Given the description of an element on the screen output the (x, y) to click on. 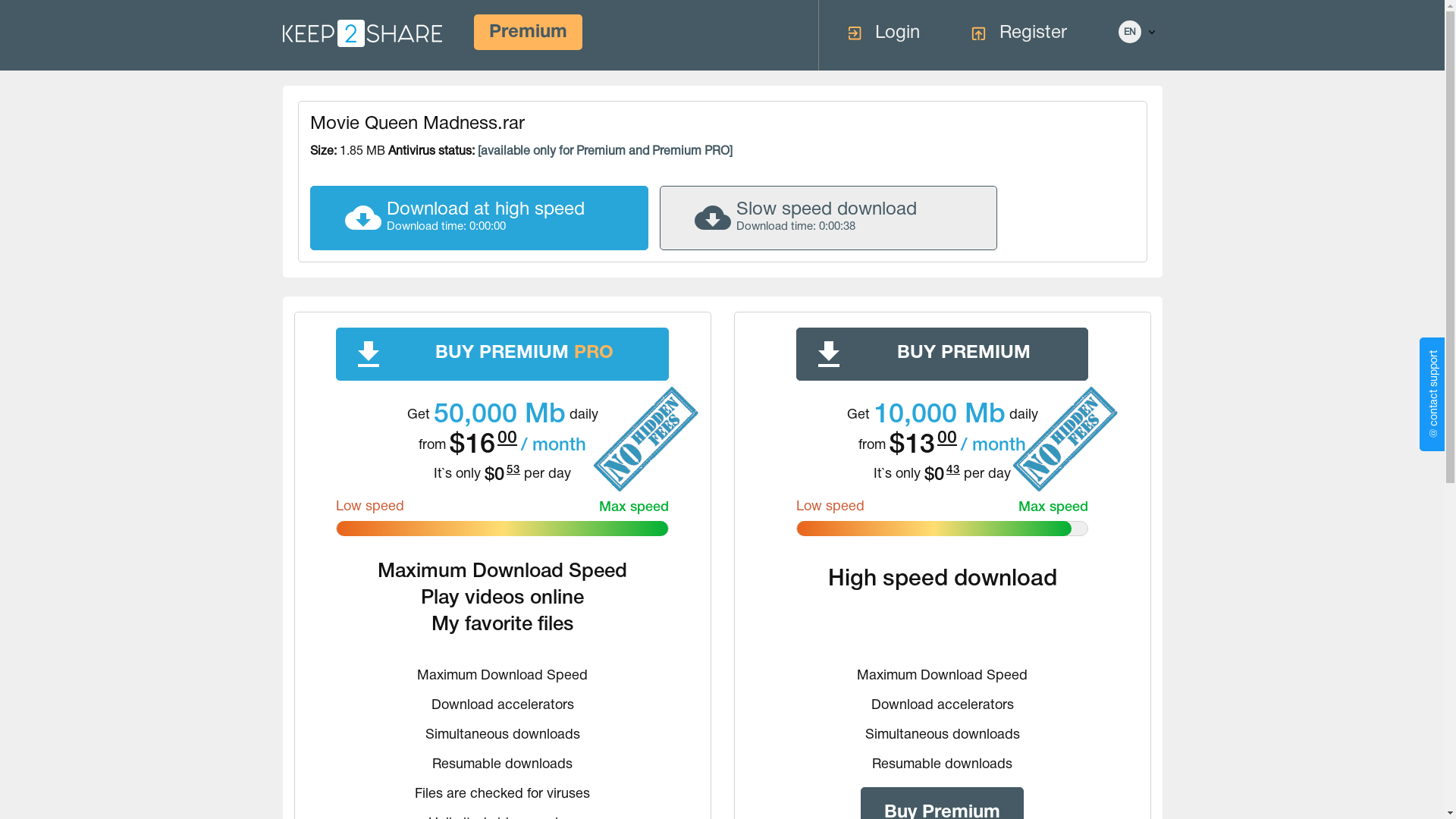
Register Element type: text (1018, 33)
Slow speed download
Download time: 0:00:38 Element type: text (828, 217)
Download at high speed
Download time: 0:00:00 Element type: text (478, 217)
BUY PREMIUM Element type: text (942, 353)
BUY PREMIUM PRO Element type: text (501, 353)
Login Element type: text (883, 33)
main page Element type: hover (361, 33)
Premium Element type: text (527, 32)
EN Element type: text (1128, 31)
